Given the description of an element on the screen output the (x, y) to click on. 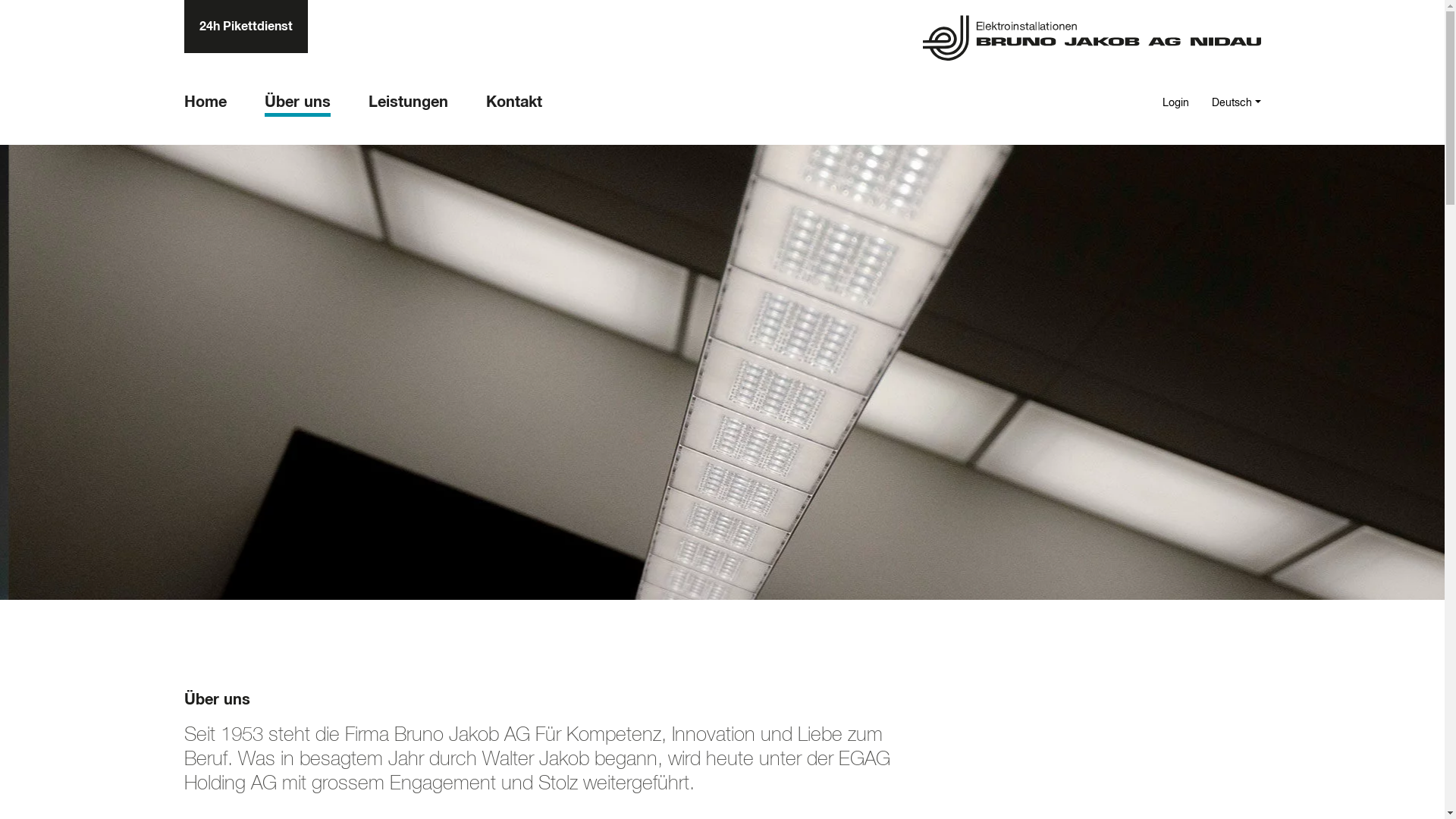
Deutsch Element type: text (1236, 104)
24h Pikettdienst Element type: text (245, 26)
Leistungen Element type: text (408, 104)
Login Element type: text (1175, 104)
Skip to content Element type: text (0, 0)
Kontakt Element type: text (513, 104)
Home Element type: text (204, 104)
